Given the description of an element on the screen output the (x, y) to click on. 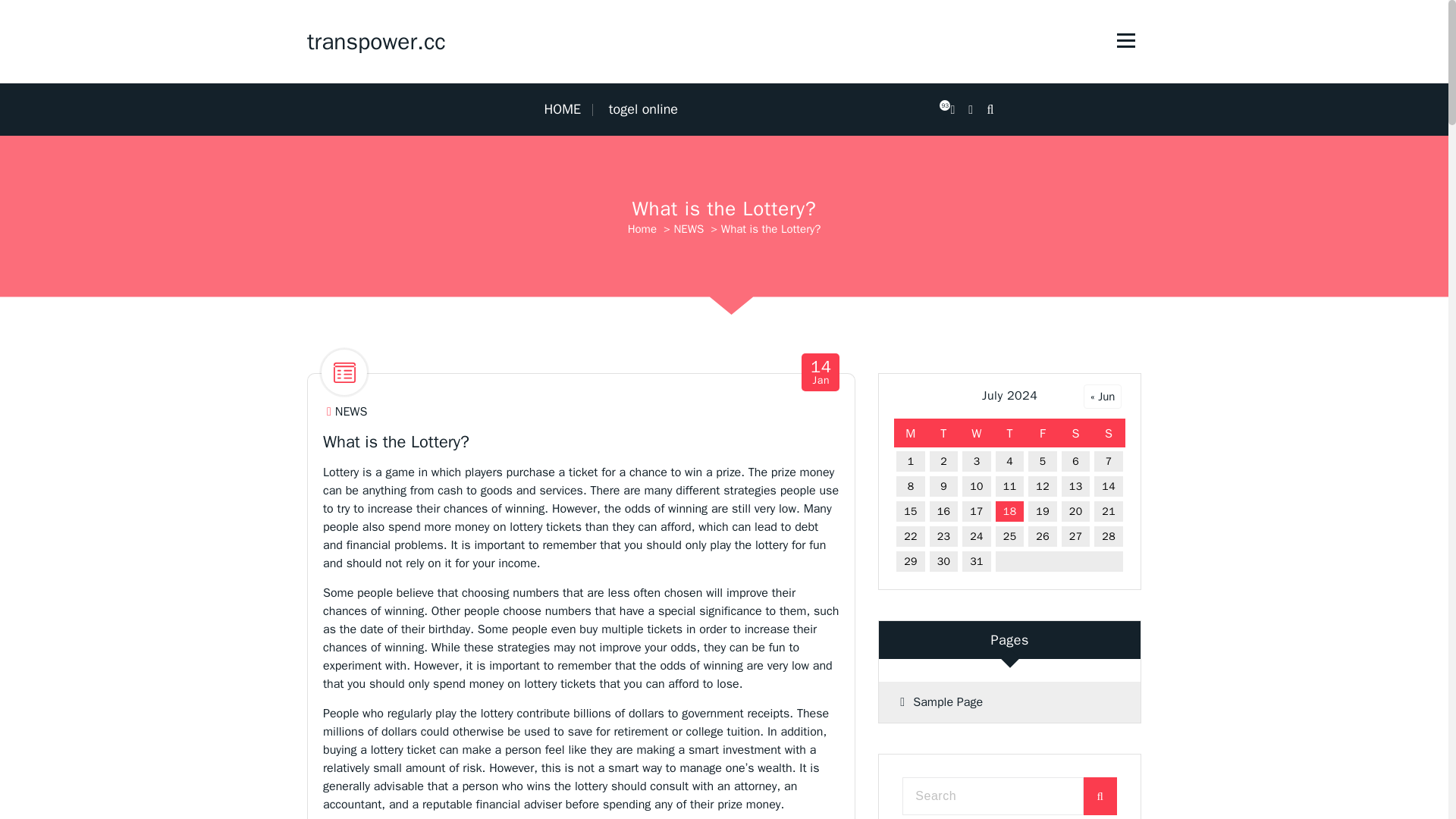
NEWS (351, 412)
NEWS (687, 228)
Tuesday (943, 433)
938 (952, 109)
Friday (1042, 433)
15 (910, 511)
5 (1042, 461)
11 (1009, 486)
7 (1108, 461)
14 (1108, 486)
Home (641, 228)
HOME (567, 109)
8 (910, 486)
Wednesday (975, 433)
Sample Page (1009, 701)
